Given the description of an element on the screen output the (x, y) to click on. 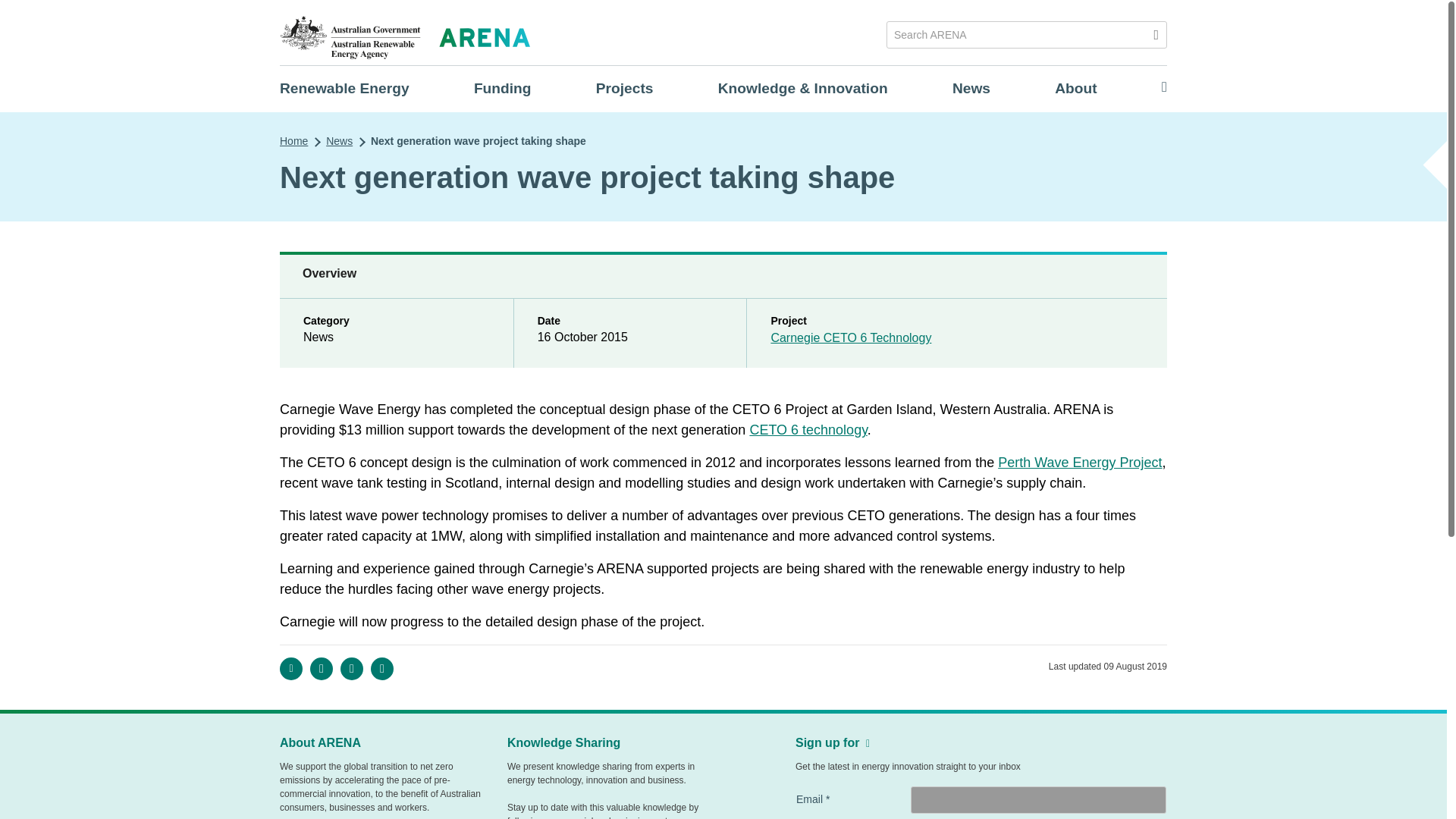
News (971, 88)
About (1075, 88)
What is renewable energy (344, 88)
Funding (502, 88)
Renewable Energy (344, 88)
Projects (624, 88)
